Given the description of an element on the screen output the (x, y) to click on. 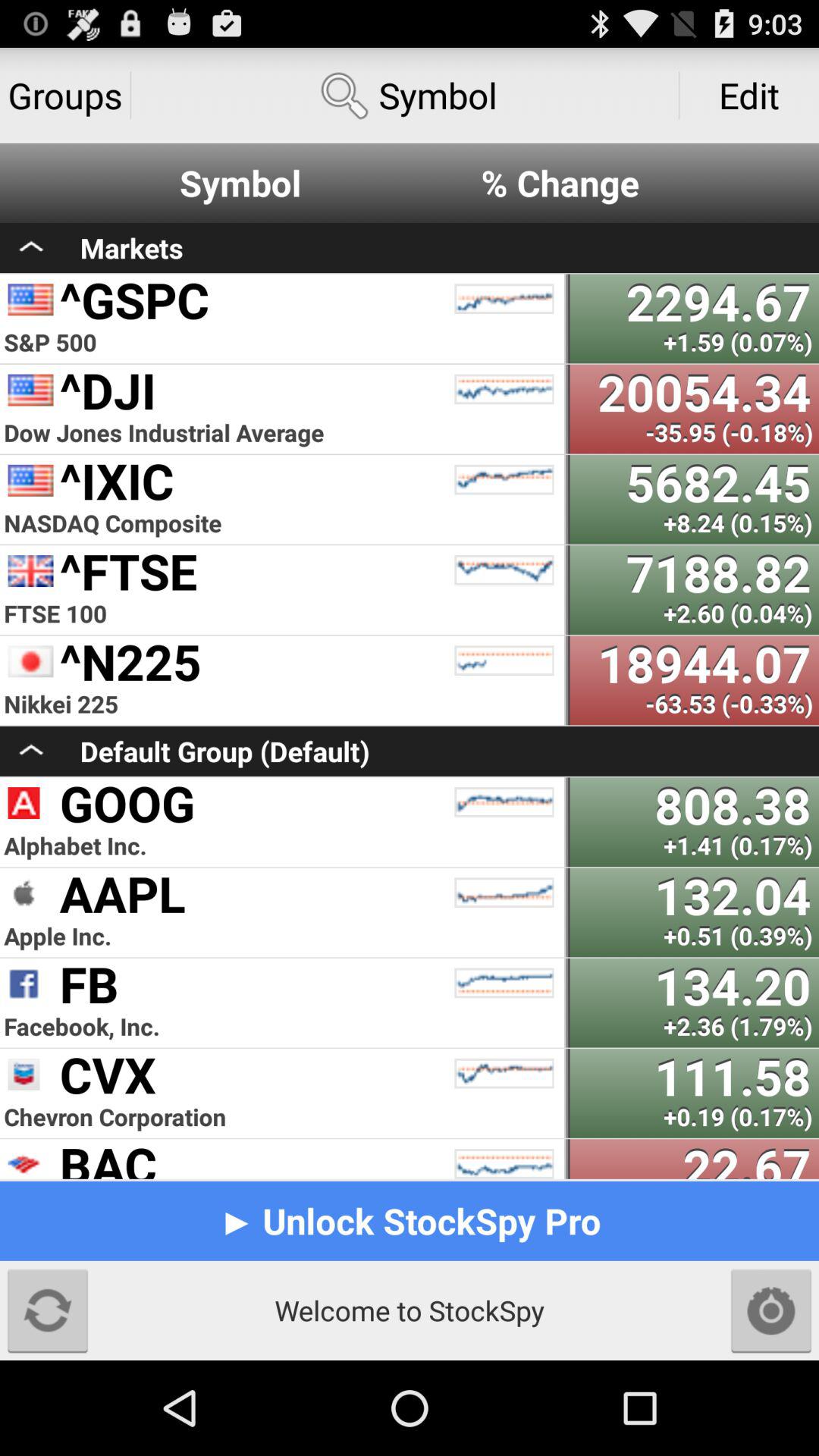
refresh stocks (47, 1310)
